Given the description of an element on the screen output the (x, y) to click on. 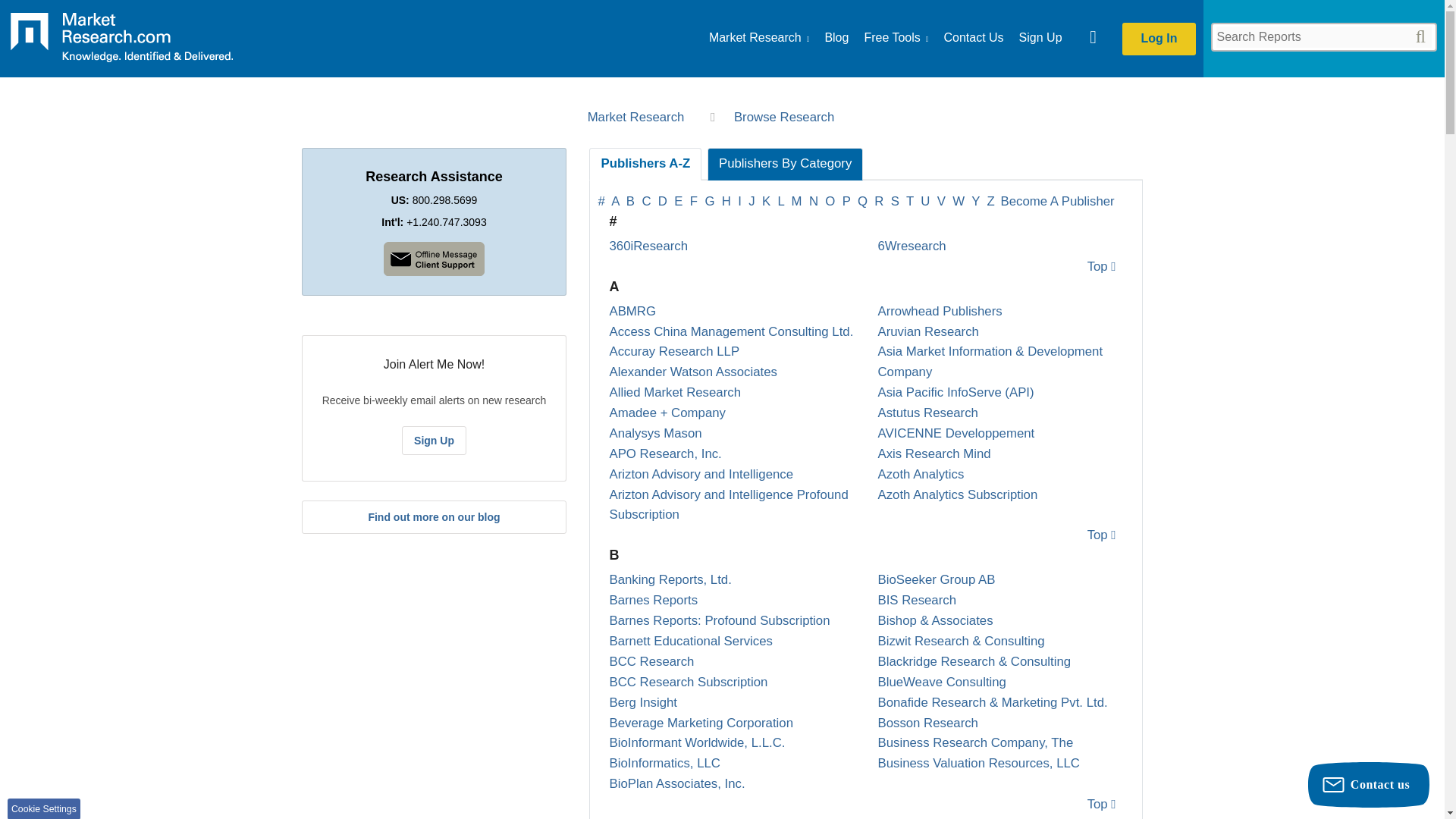
Free Tools (895, 37)
Contact Us (973, 37)
Sign Up (1040, 37)
Publishers By Category (785, 164)
Publishers A-Z (645, 164)
Find out more on our blog (434, 516)
Sign Up (1040, 37)
Browse Market Research Industries (759, 37)
Browse Research (787, 116)
D  (664, 201)
Get in touch with MarketResearch.com (973, 37)
Sign Up (433, 440)
Market Research (641, 116)
C  (647, 201)
Learn more about market research with these free tools (895, 37)
